Given the description of an element on the screen output the (x, y) to click on. 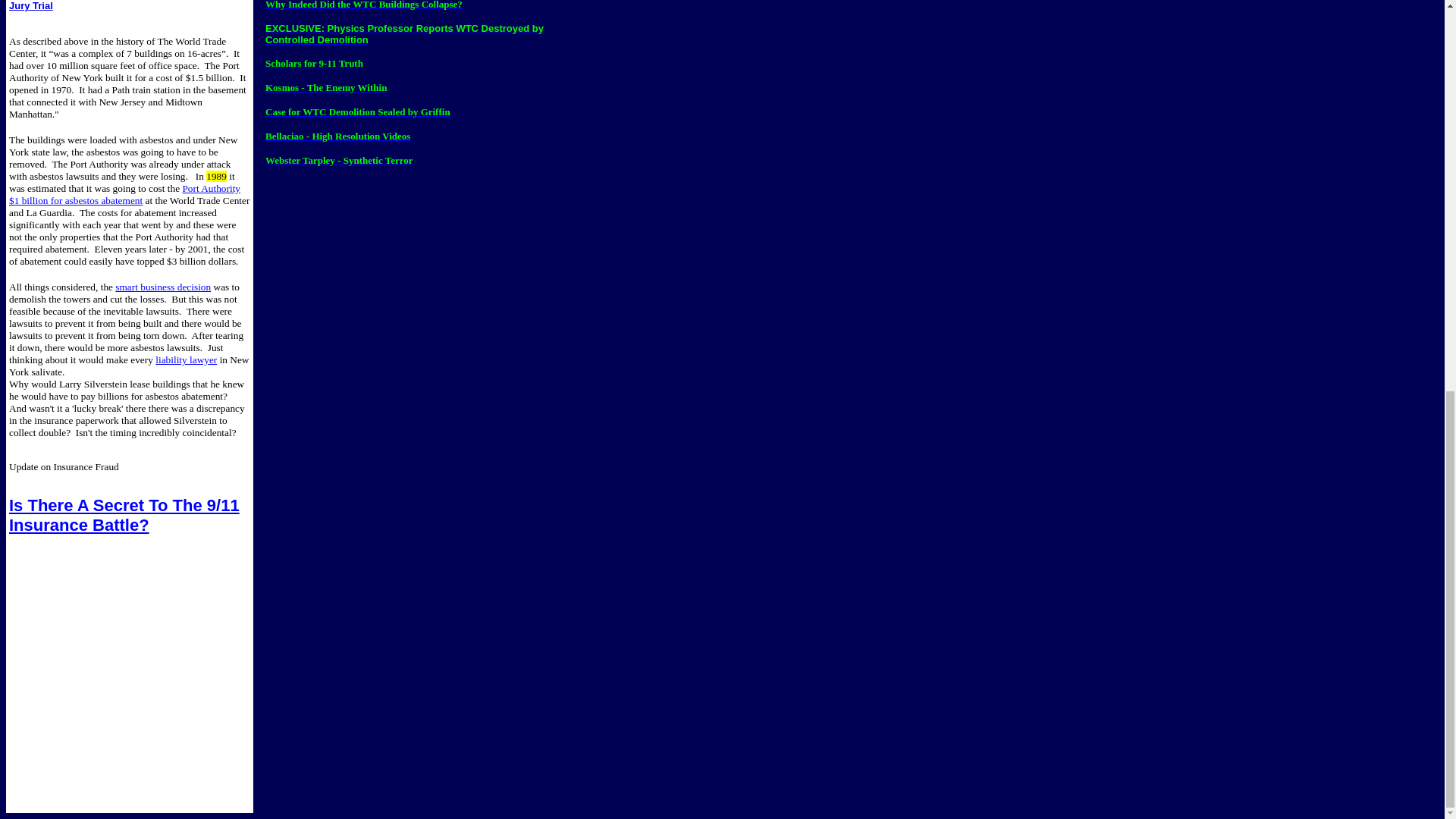
Kosmos - The Enemy Within (325, 87)
Why Indeed Did the WTC Buildings Collapse? (363, 4)
Bellaciao - High Resolution Videos (337, 135)
smart business decision (163, 286)
Scholars for 9-11 Truth (313, 62)
liability lawyer (185, 359)
Case for WTC Demolition Sealed by Griffin (356, 111)
Webster Tarpley - Synthetic Terror (338, 160)
Court Rules Against Silverstein WTC Claim, Orders Jury Trial (128, 5)
